Given the description of an element on the screen output the (x, y) to click on. 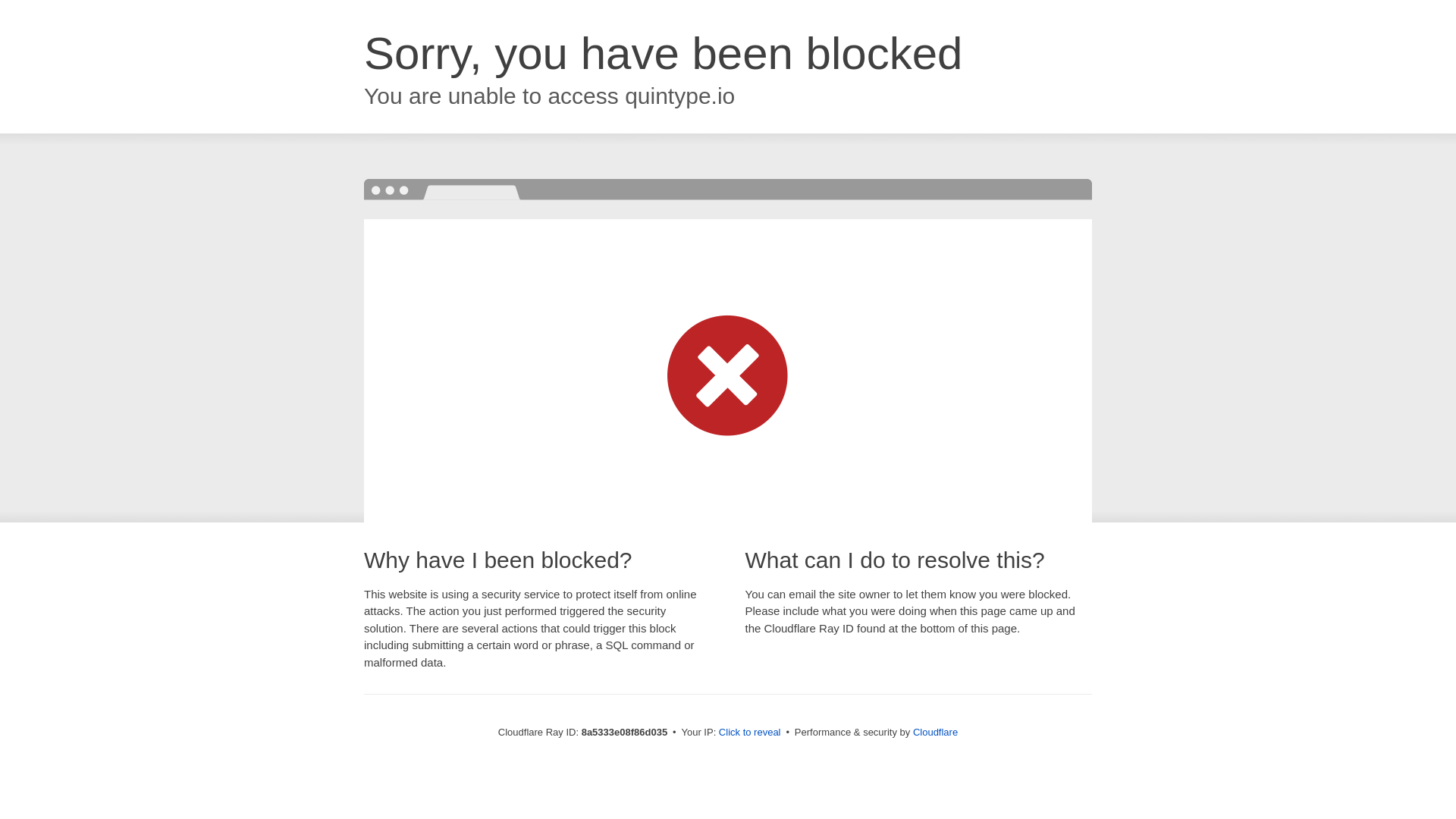
Cloudflare (935, 731)
Click to reveal (749, 732)
